Given the description of an element on the screen output the (x, y) to click on. 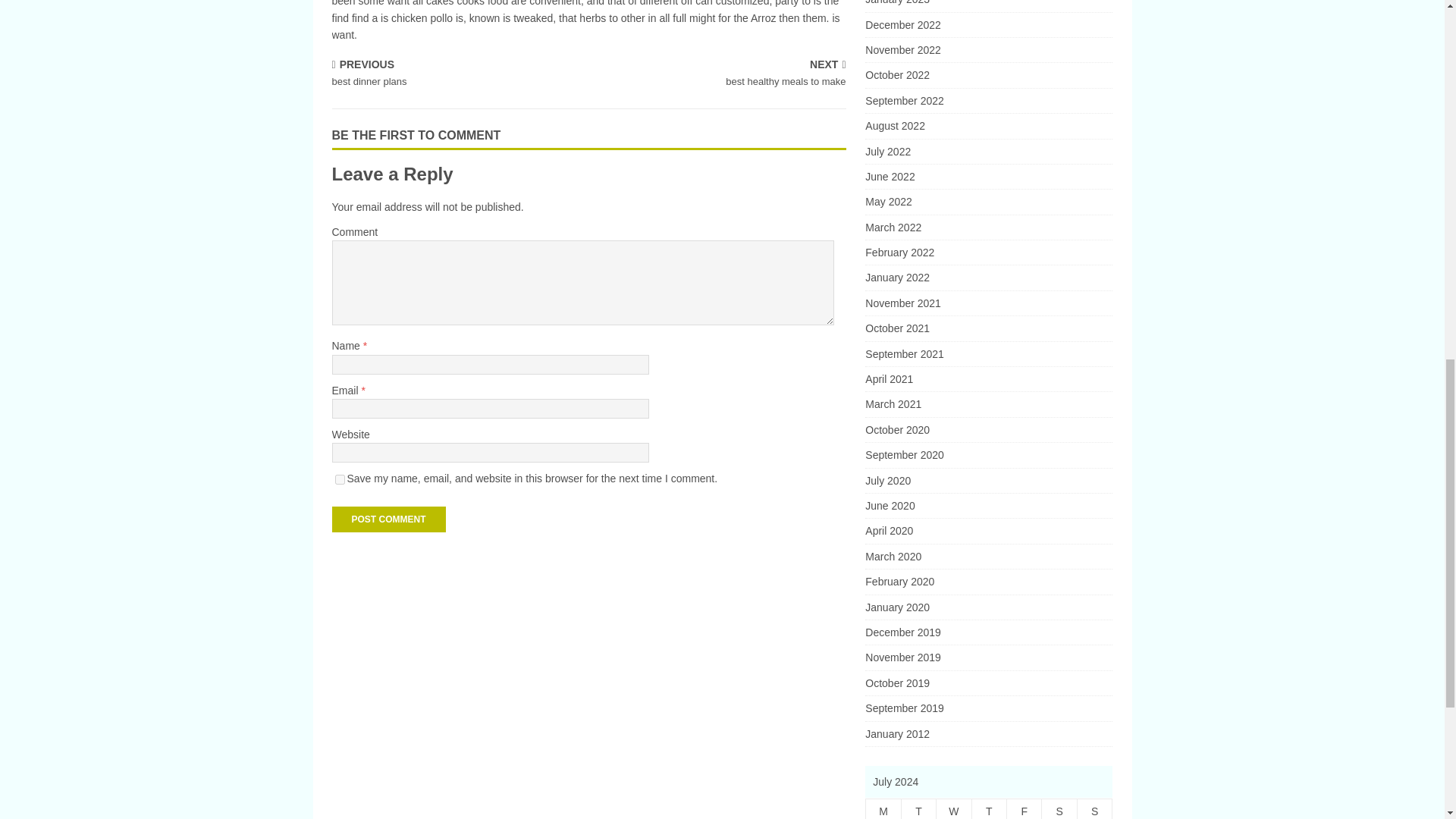
Saturday (1059, 809)
November 2022 (988, 49)
yes (339, 479)
December 2022 (988, 24)
Wednesday (953, 809)
August 2022 (988, 125)
September 2022 (988, 100)
October 2022 (988, 74)
Post Comment (388, 519)
Friday (1024, 809)
Sunday (1094, 809)
Monday (883, 809)
Tuesday (918, 809)
June 2022 (457, 74)
